Given the description of an element on the screen output the (x, y) to click on. 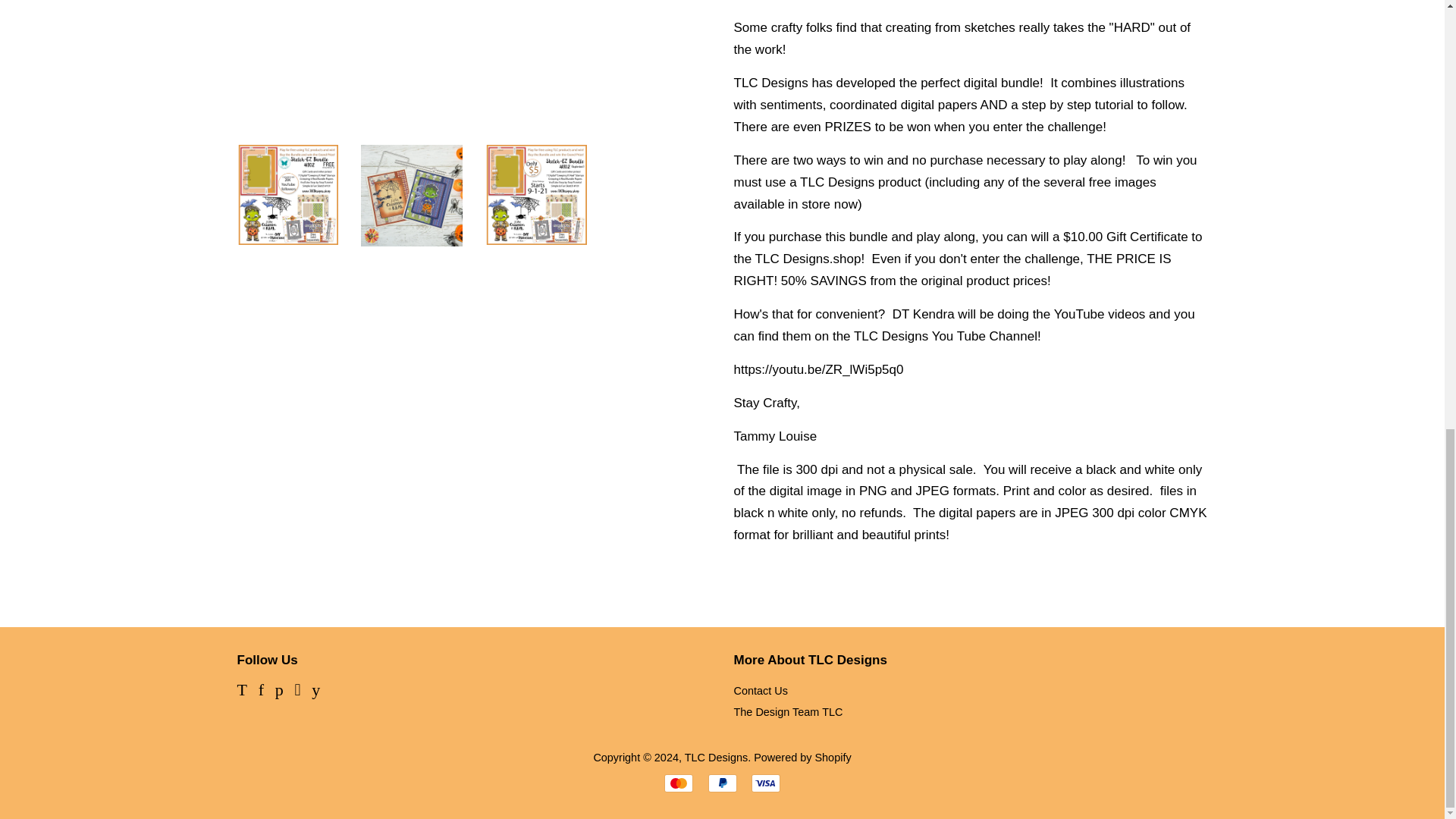
Mastercard (678, 782)
PayPal (721, 782)
Visa (765, 782)
